Given the description of an element on the screen output the (x, y) to click on. 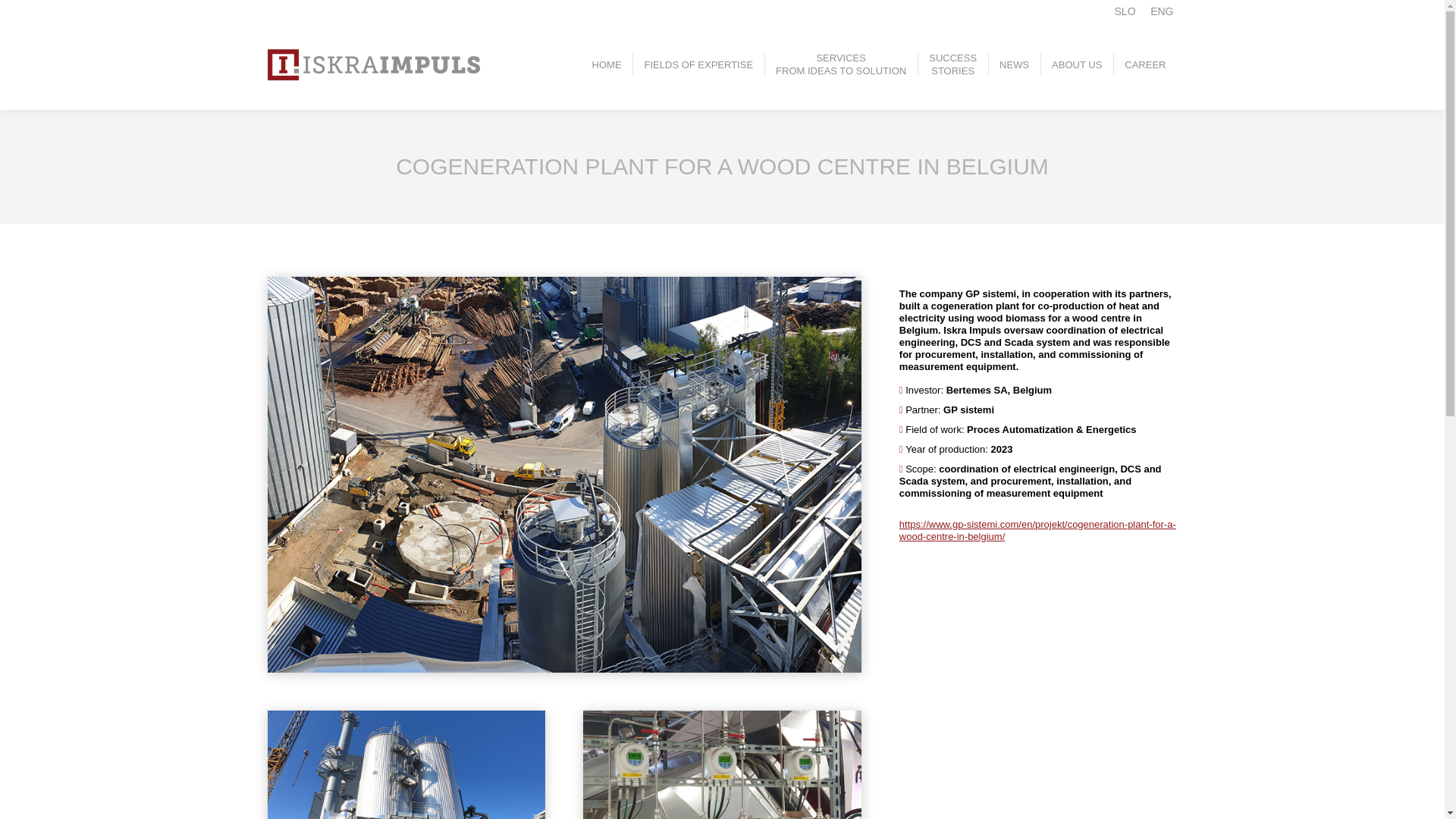
FIELDS OF EXPERTISE (840, 63)
SLO (699, 63)
ENG (1125, 11)
